Given the description of an element on the screen output the (x, y) to click on. 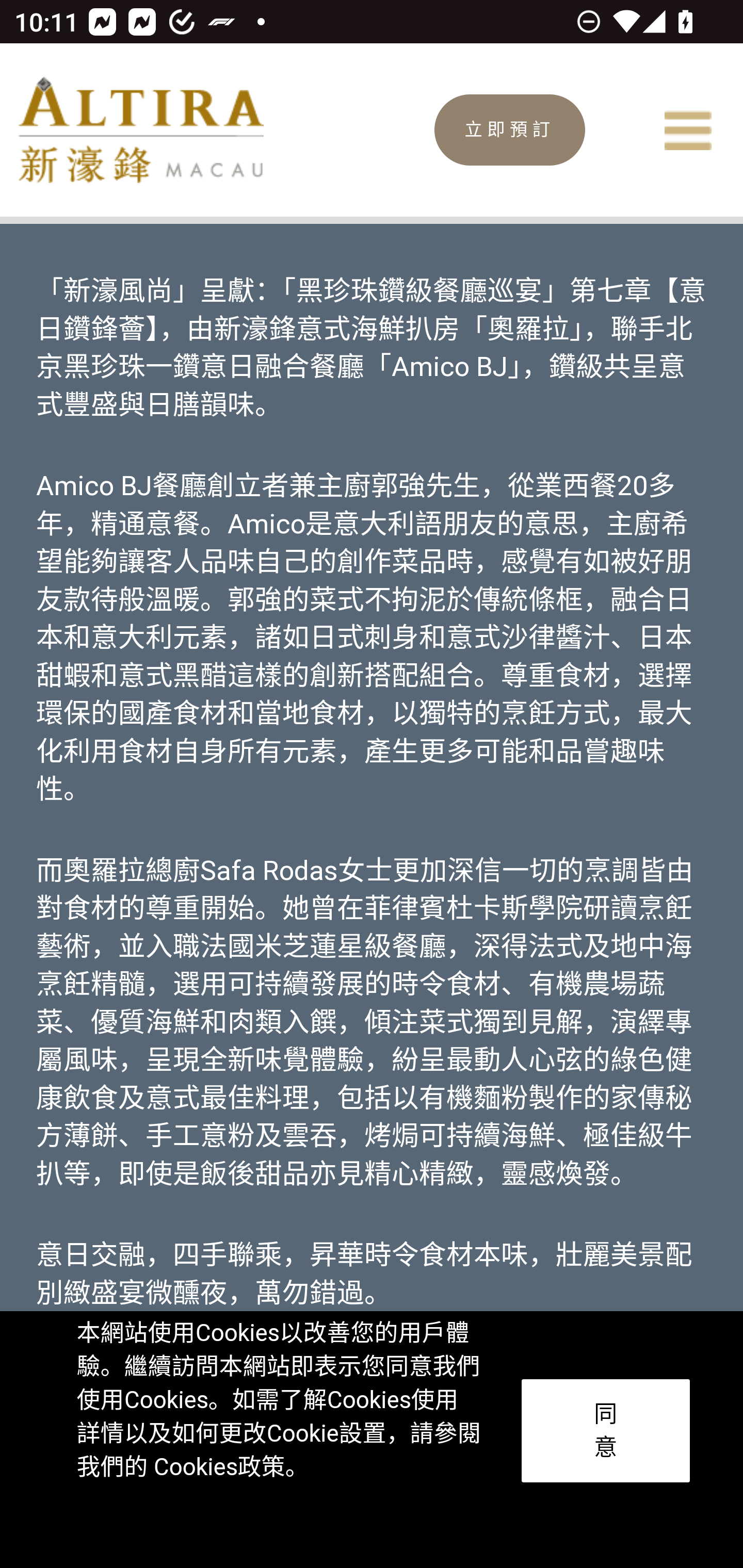
Logo (140, 129)
ico_menu (687, 130)
立即預訂 (509, 130)
